Given the description of an element on the screen output the (x, y) to click on. 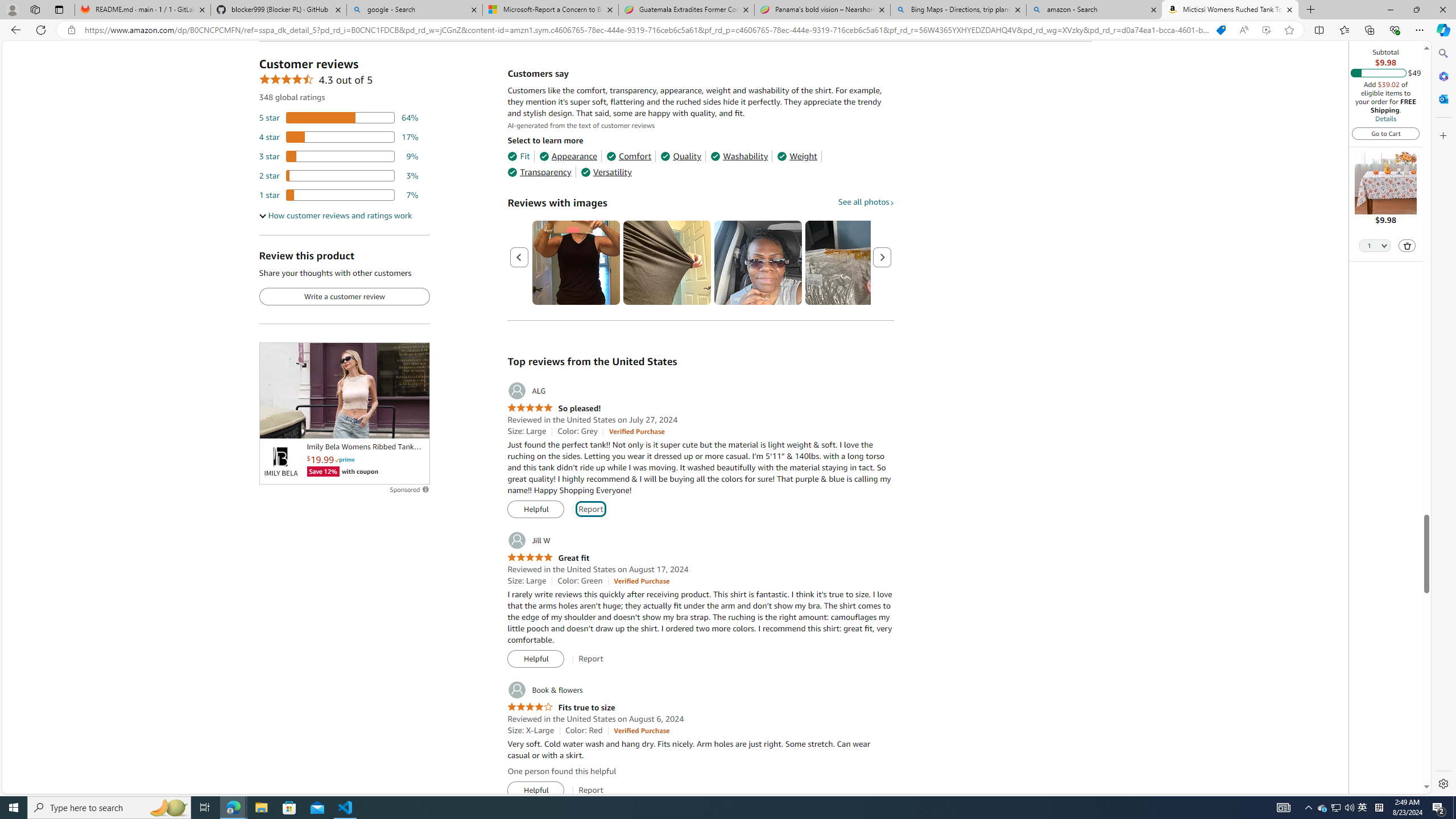
Helpful (536, 790)
Appearance (568, 156)
3 percent of reviews have 2 stars (339, 175)
Jill W (528, 540)
Customer Image (758, 262)
Quality (681, 156)
Report (590, 790)
Versatility (605, 172)
